Given the description of an element on the screen output the (x, y) to click on. 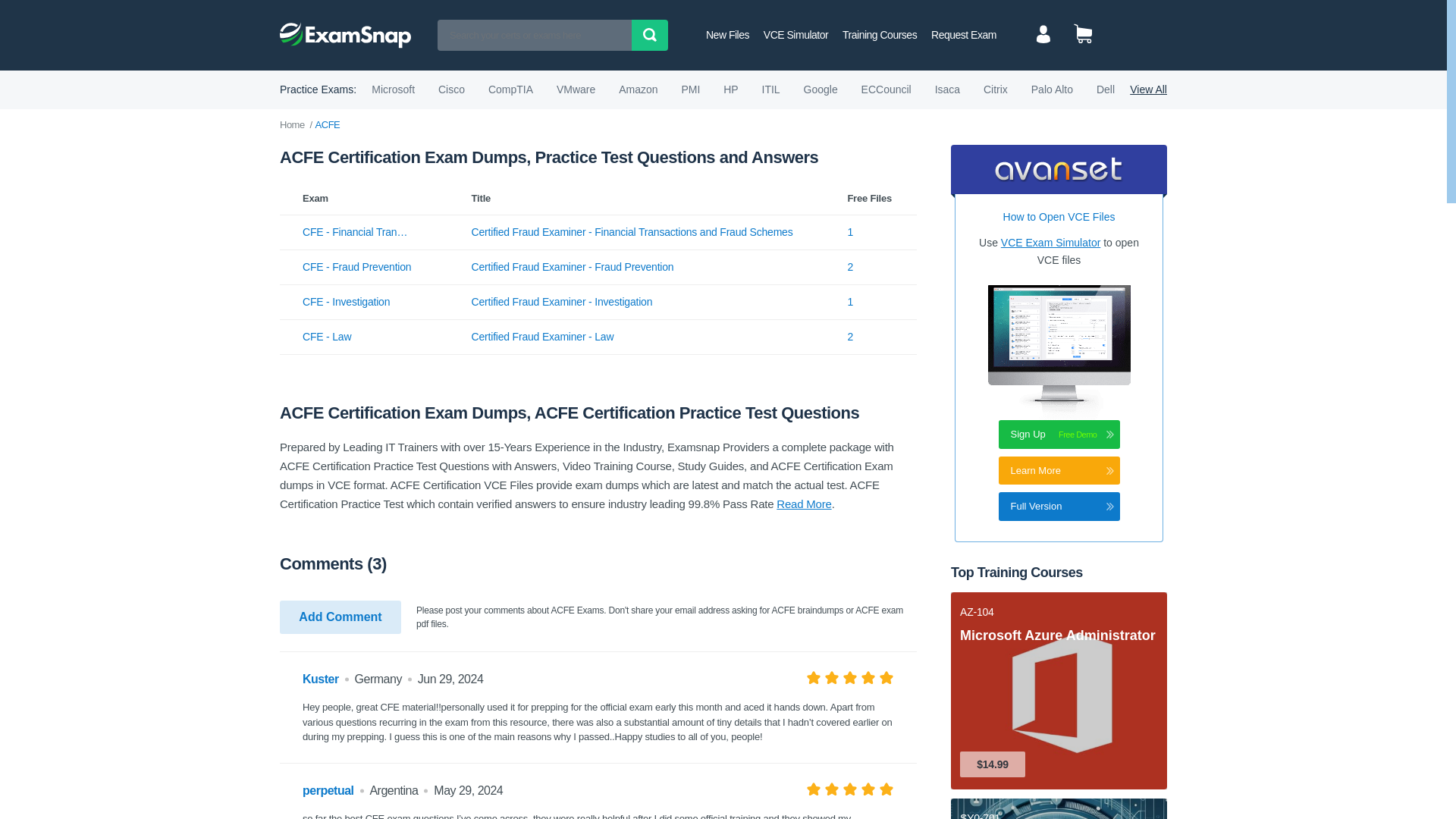
CFE - Financial Transactions and Fraud Schemes (357, 232)
View All (1148, 89)
ECCouncil (886, 89)
PMI (690, 89)
Certified Fraud Examiner - Fraud Prevention (572, 266)
VMware (575, 89)
Request Exam (963, 34)
CFE - Investigation (357, 302)
CFE - Financial Transactions and Fraud Schemes (357, 232)
HP (730, 89)
